Given the description of an element on the screen output the (x, y) to click on. 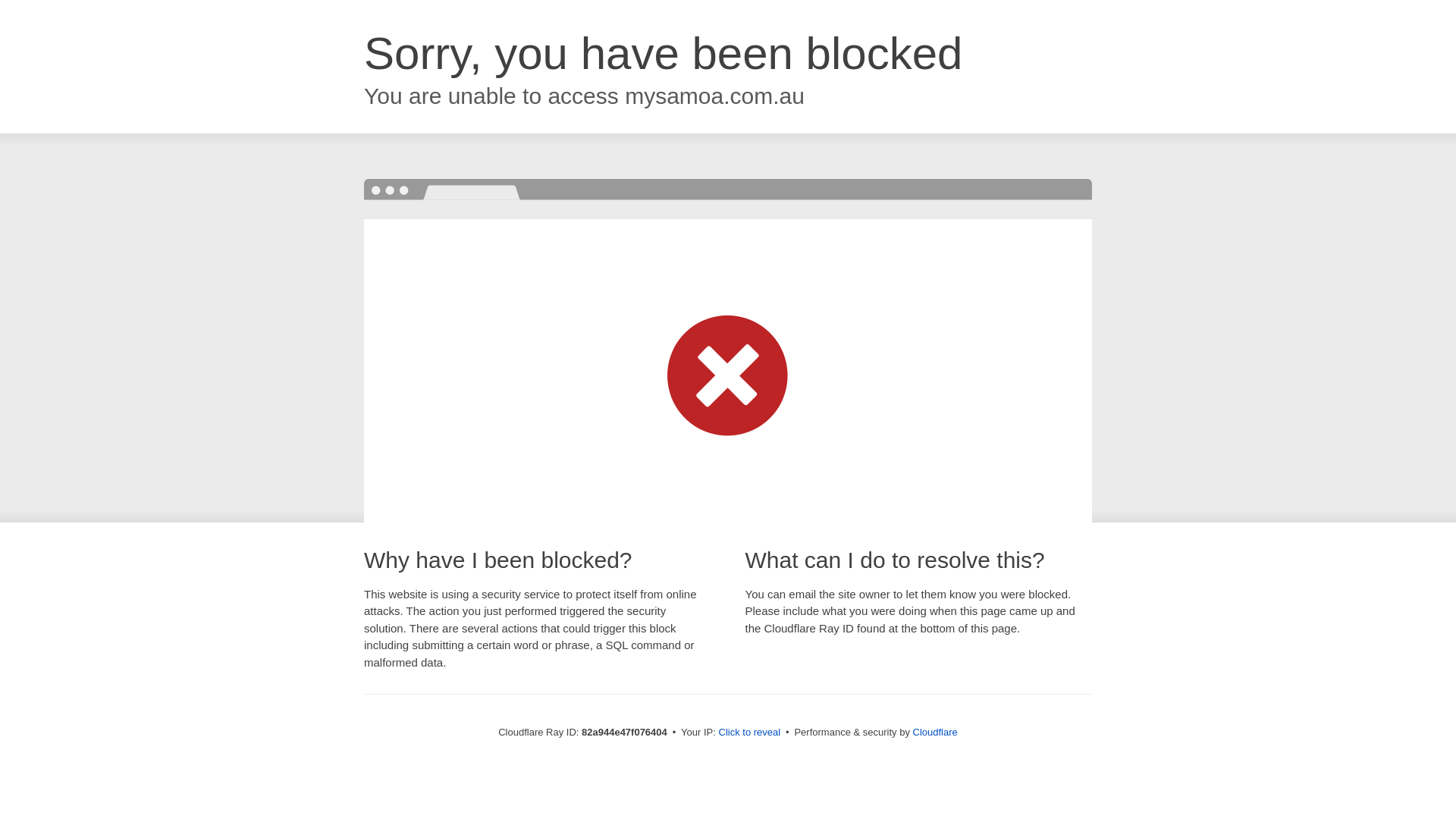
Cloudflare Element type: text (935, 731)
Click to reveal Element type: text (749, 732)
